Given the description of an element on the screen output the (x, y) to click on. 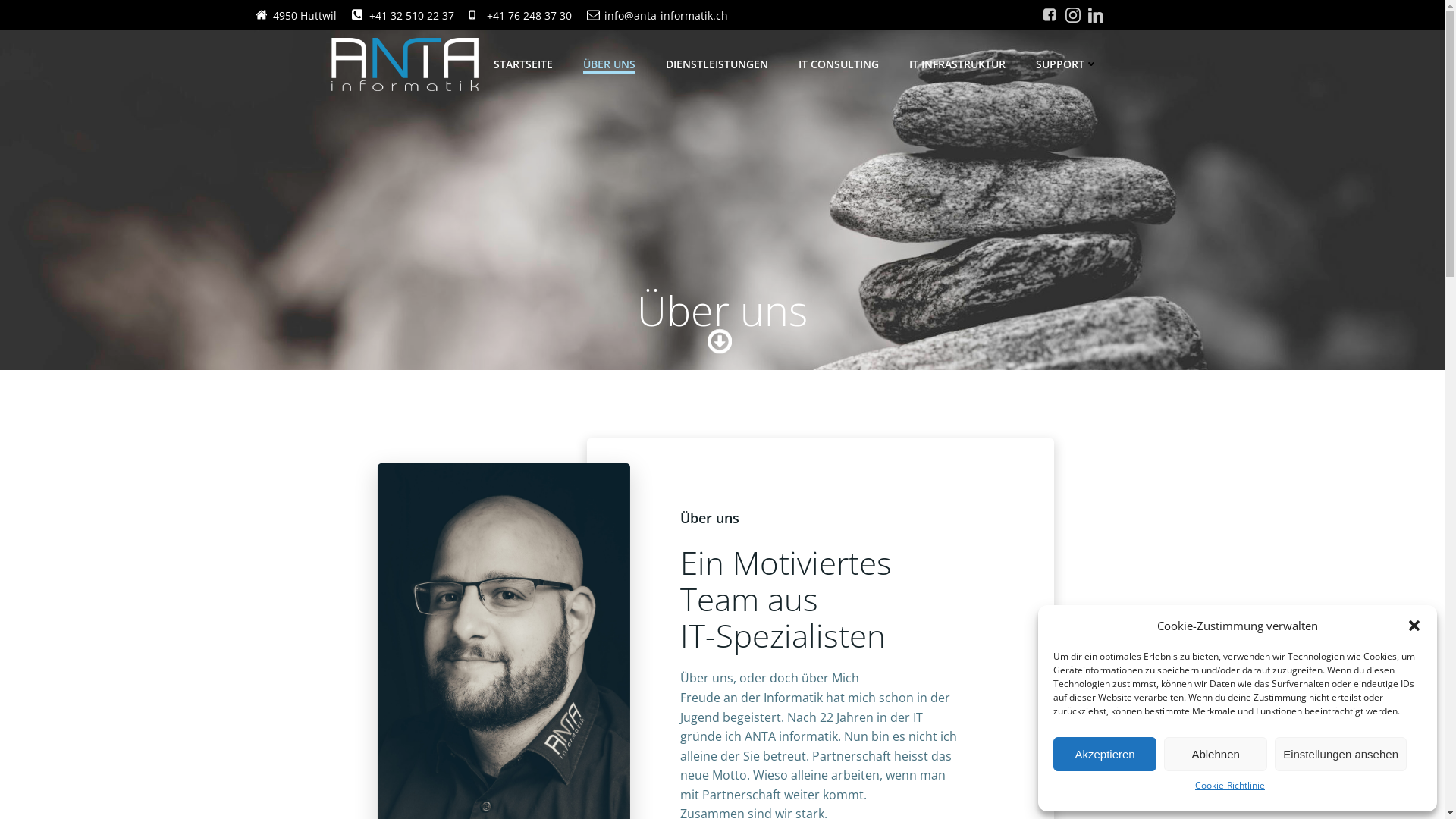
+41 32 510 22 37 Element type: text (402, 14)
Ablehnen Element type: text (1215, 754)
Cookie-Richtlinie Element type: text (1229, 785)
STARTSEITE Element type: text (522, 64)
Einstellungen ansehen Element type: text (1340, 754)
info@anta-informatik.ch Element type: text (657, 14)
IT INFRASTRUKTUR Element type: text (957, 64)
DIENSTLEISTUNGEN Element type: text (716, 64)
Akzeptieren Element type: text (1104, 754)
4950 Huttwil Element type: text (294, 14)
IT CONSULTING Element type: text (838, 64)
+41 76 248 37 30 Element type: text (519, 14)
SUPPORT Element type: text (1066, 64)
